Given the description of an element on the screen output the (x, y) to click on. 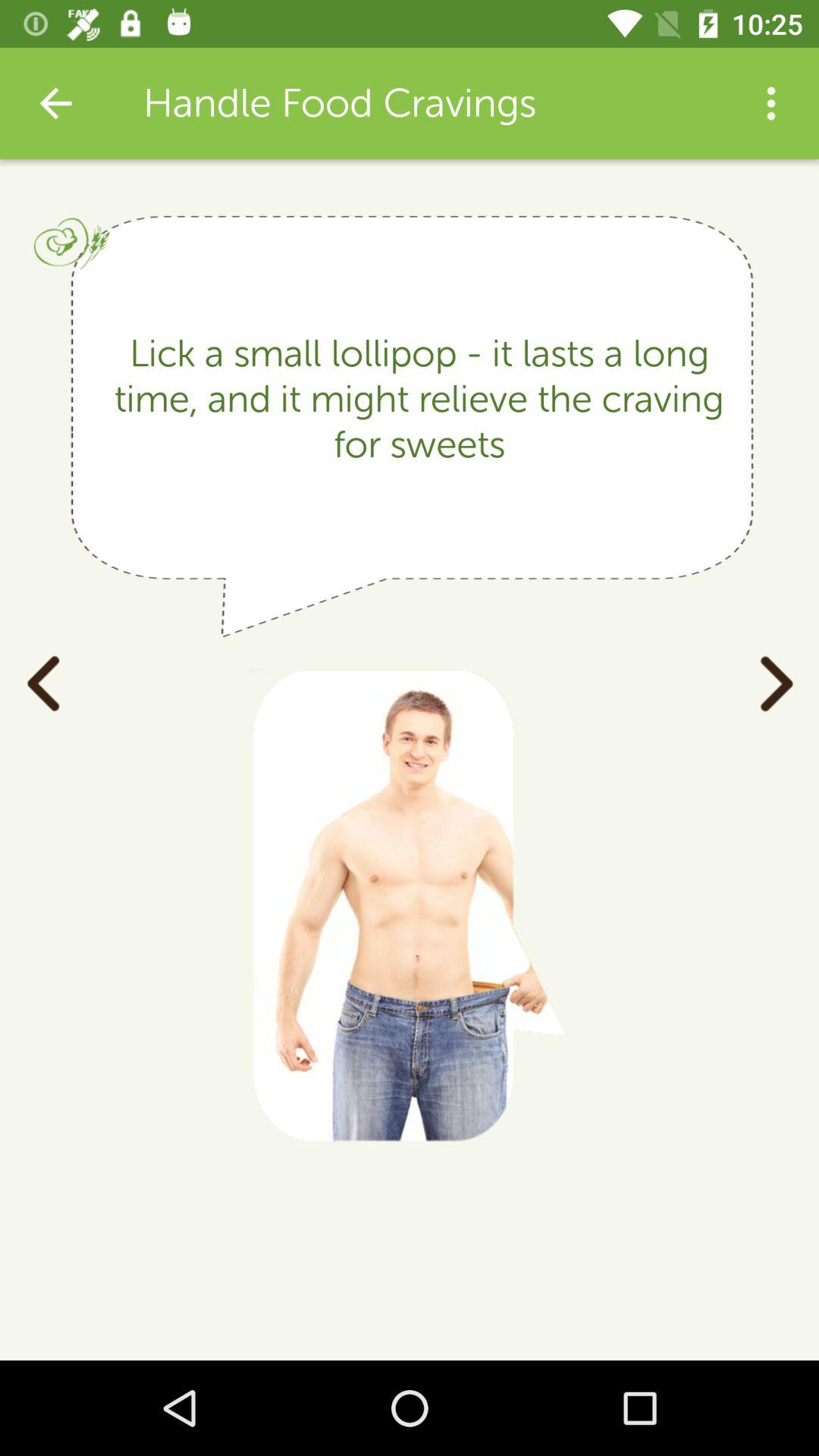
click the icon next to handle food cravings (771, 103)
